Given the description of an element on the screen output the (x, y) to click on. 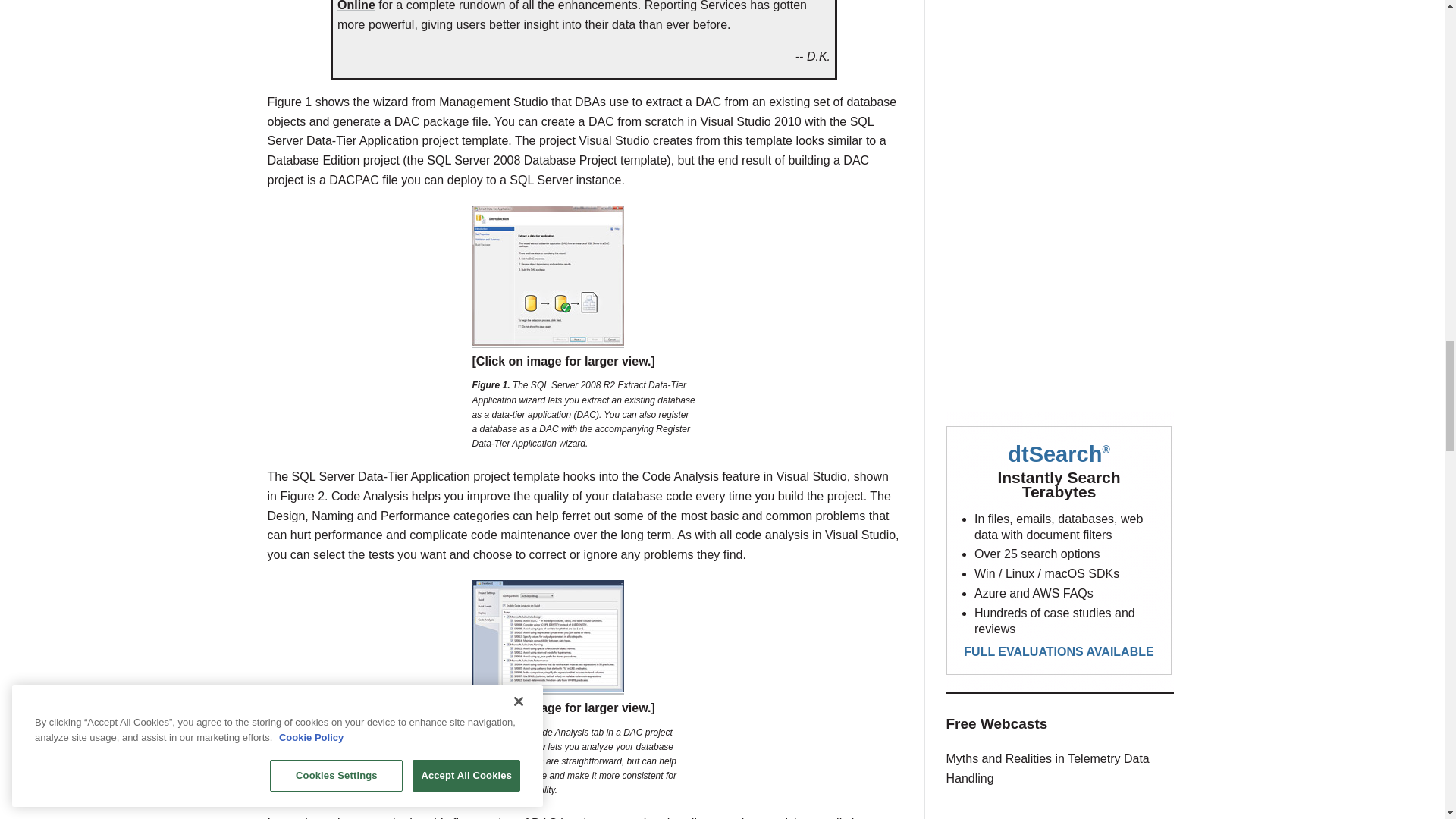
3rd party ad content (1059, 278)
3rd party ad content (1059, 72)
